Given the description of an element on the screen output the (x, y) to click on. 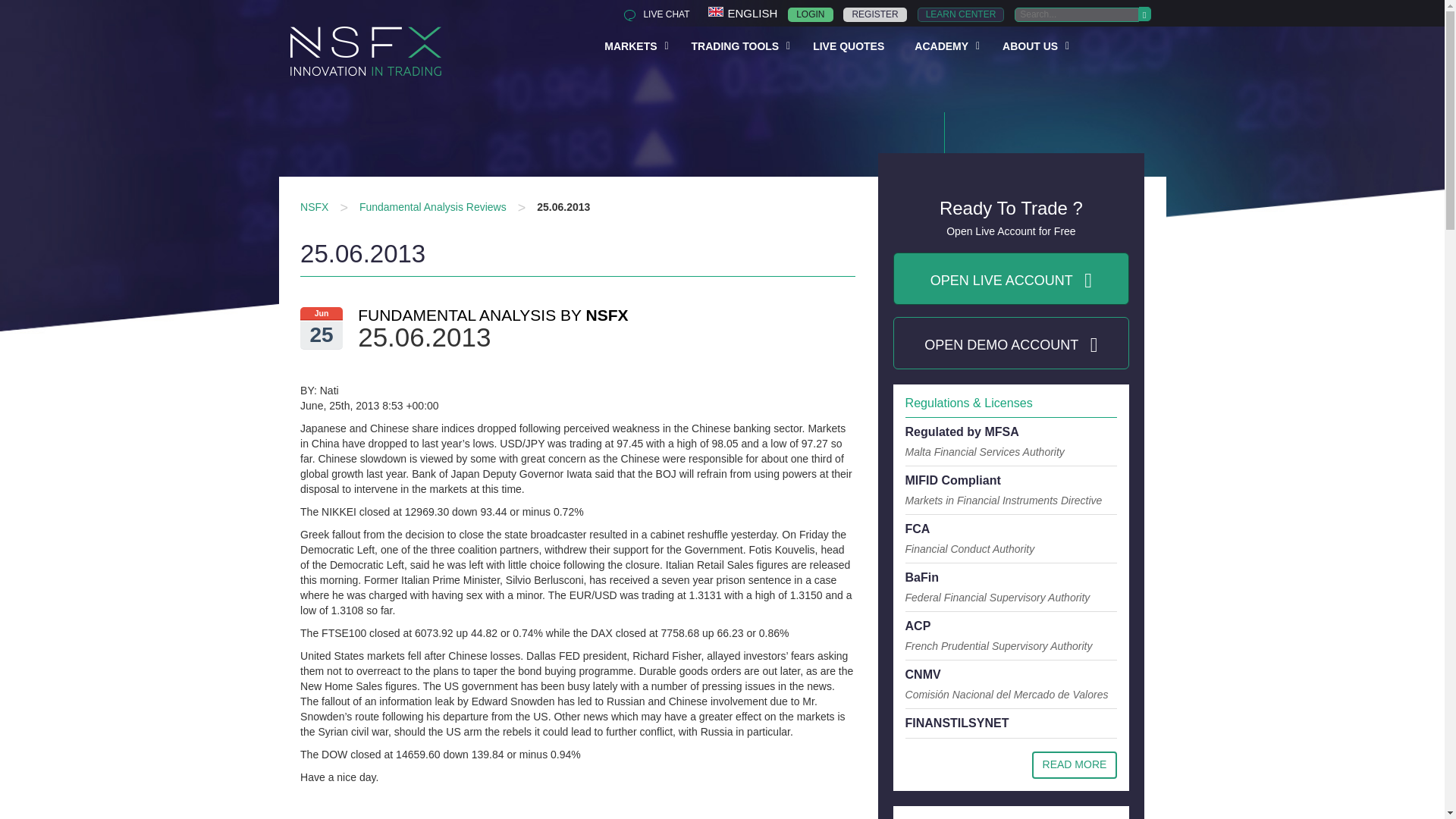
NSFX (314, 206)
Fundamental Analysis Reviews (432, 206)
LEARN CENTER (833, 74)
Live Chat with our Forex Trading Pro's (960, 14)
TRADING TOOLS (652, 14)
25.06.2013 (737, 44)
LIVE CHAT (563, 206)
Regulations and Licenses (652, 14)
LOGIN (1075, 764)
